Given the description of an element on the screen output the (x, y) to click on. 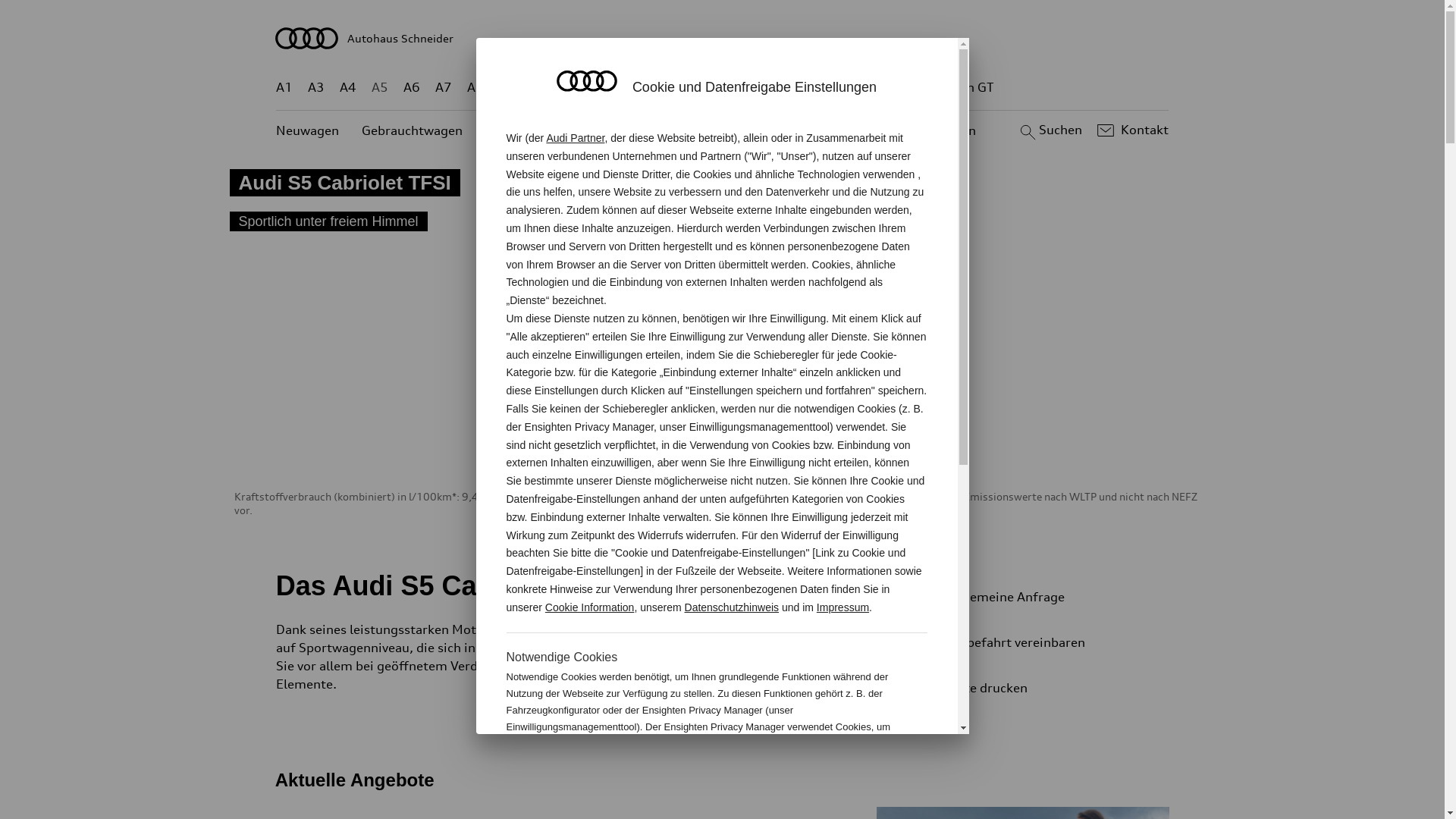
A8 Element type: text (475, 87)
Q7 Element type: text (678, 87)
Probefahrt vereinbaren Element type: text (1038, 642)
A6 Element type: text (411, 87)
Seite drucken Element type: text (1044, 687)
Kundenservice Element type: text (730, 130)
Gebrauchtwagen Element type: text (411, 130)
Suchen Element type: text (1049, 130)
RS Element type: text (861, 87)
Cookie Information Element type: text (847, 776)
A5 Element type: text (379, 87)
Angebote Element type: text (636, 130)
Datenschutzhinweis Element type: text (731, 607)
Q5 Element type: text (645, 87)
A3 Element type: text (315, 87)
A1 Element type: text (284, 87)
Allgemeine Anfrage Element type: text (1038, 596)
Q4 e-tron Element type: text (592, 87)
TT Element type: text (814, 87)
Kontakt Element type: text (1130, 130)
A7 Element type: text (443, 87)
Cookie Information Element type: text (589, 607)
Q2 Element type: text (507, 87)
e-tron GT Element type: text (965, 87)
Q8 e-tron Element type: text (763, 87)
Audi Partner Element type: text (575, 137)
Autohaus Schneider Element type: text (722, 38)
Impressum Element type: text (842, 607)
Neuwagen Element type: text (307, 130)
Q3 Element type: text (540, 87)
Q8 Element type: text (710, 87)
A4 Element type: text (347, 87)
g-tron Element type: text (903, 87)
